Given the description of an element on the screen output the (x, y) to click on. 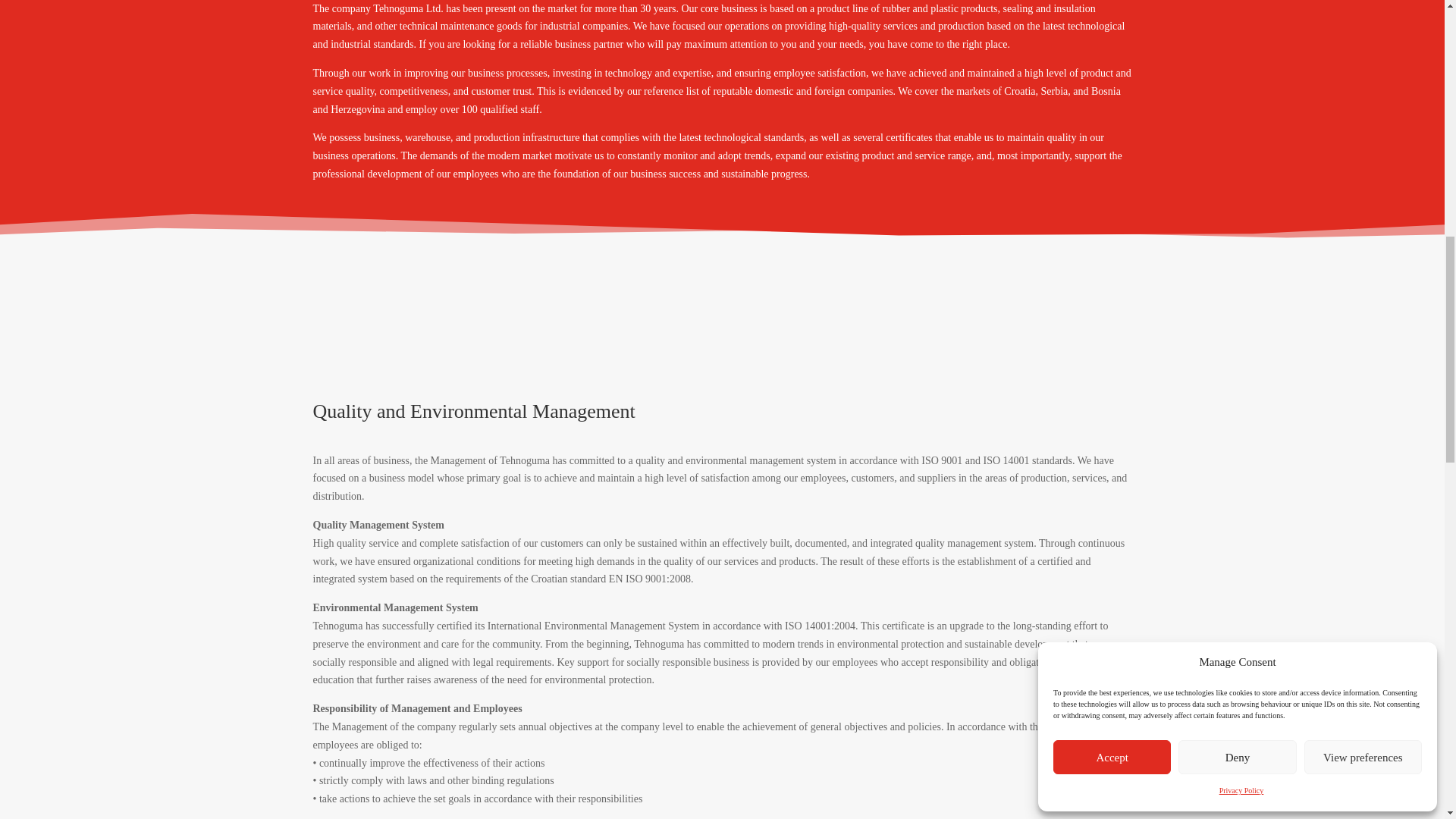
retina-logo-tehnoguma (437, 332)
